Given the description of an element on the screen output the (x, y) to click on. 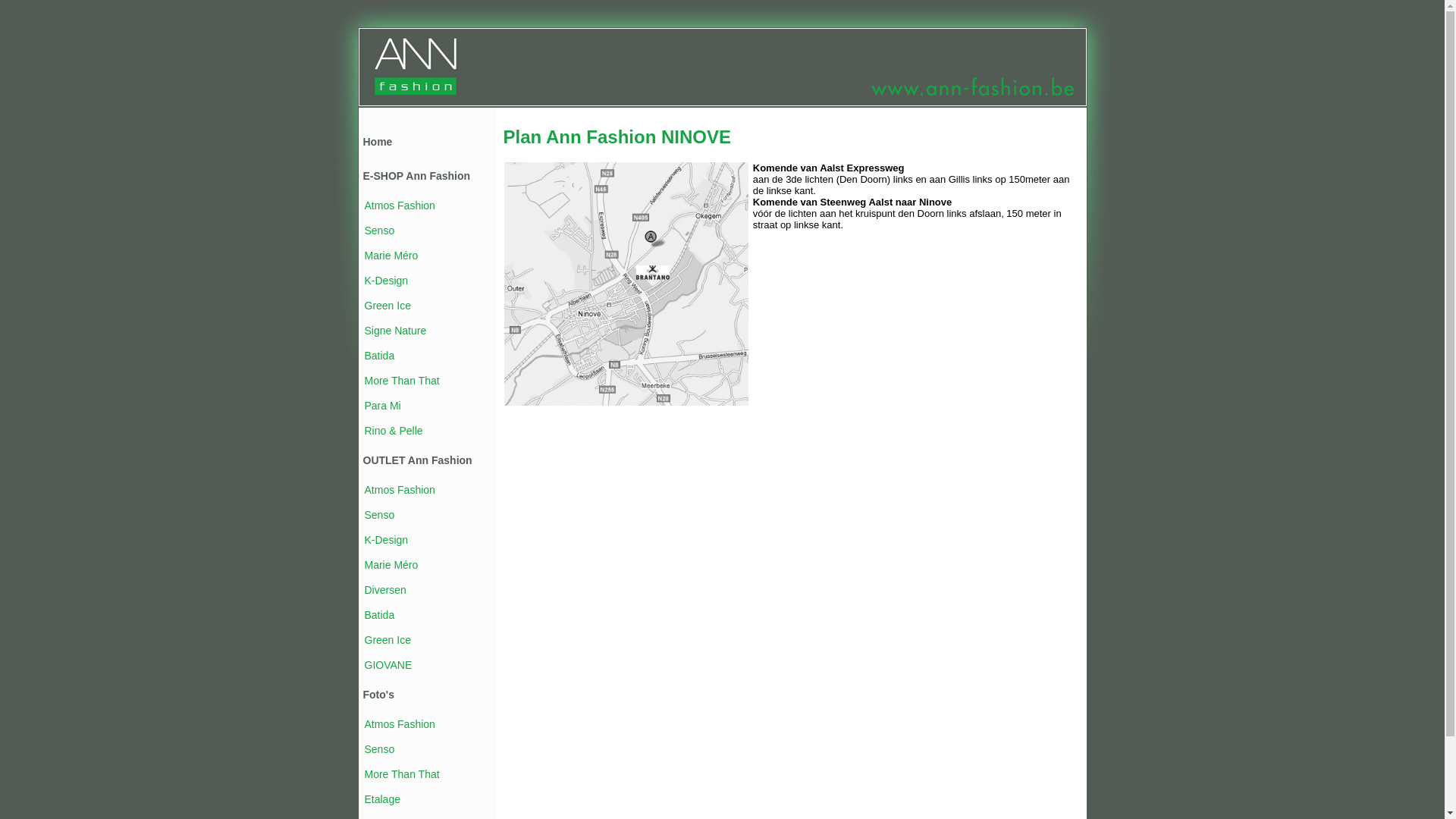
Batida Element type: text (379, 614)
Signe Nature Element type: text (395, 330)
Atmos Fashion Element type: text (399, 724)
Atmos Fashion Element type: text (399, 489)
GIOVANE Element type: text (387, 664)
OUTLET Ann Fashion Element type: text (416, 460)
Diversen Element type: text (384, 589)
Green Ice Element type: text (387, 639)
Senso Element type: text (379, 230)
Atmos Fashion Element type: text (399, 205)
Batida Element type: text (379, 355)
Home Element type: text (377, 141)
Para Mi Element type: text (382, 405)
Etalage Element type: text (381, 799)
More Than That Element type: text (401, 380)
More Than That Element type: text (401, 774)
E-SHOP Ann Fashion Element type: text (416, 175)
K-Design Element type: text (385, 539)
Senso Element type: text (379, 514)
Foto's Element type: text (377, 694)
Senso Element type: text (379, 749)
K-Design Element type: text (385, 280)
Rino & Pelle Element type: text (393, 430)
Green Ice Element type: text (387, 305)
